Given the description of an element on the screen output the (x, y) to click on. 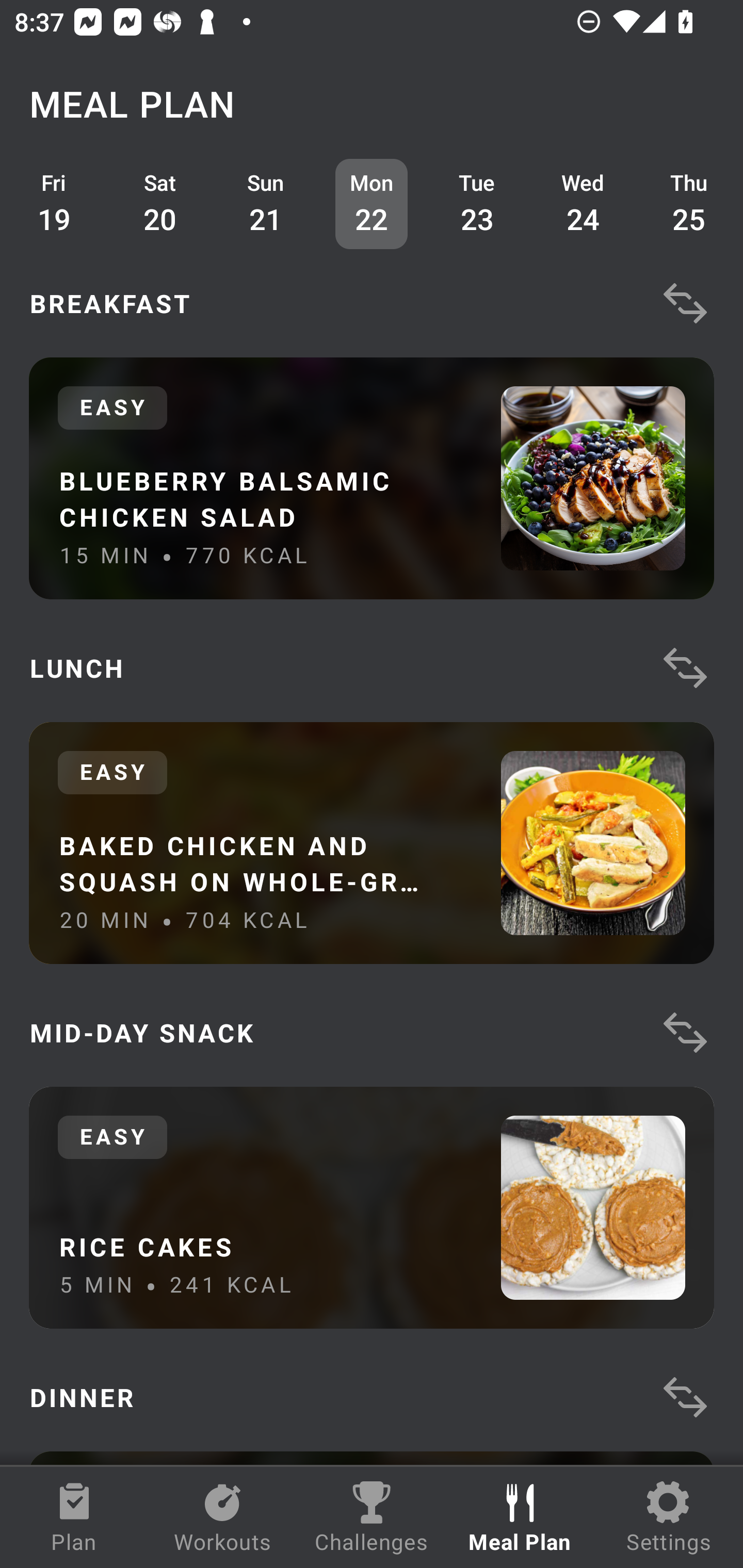
Fri 19 (53, 203)
Sat 20 (159, 203)
Sun 21 (265, 203)
Mon 22 (371, 203)
Tue 23 (477, 203)
Wed 24 (583, 203)
Thu 25 (689, 203)
EASY RICE CAKES 5 MIN • 241 KCAL (371, 1207)
 Plan  (74, 1517)
 Workouts  (222, 1517)
 Challenges  (371, 1517)
 Settings  (668, 1517)
